Given the description of an element on the screen output the (x, y) to click on. 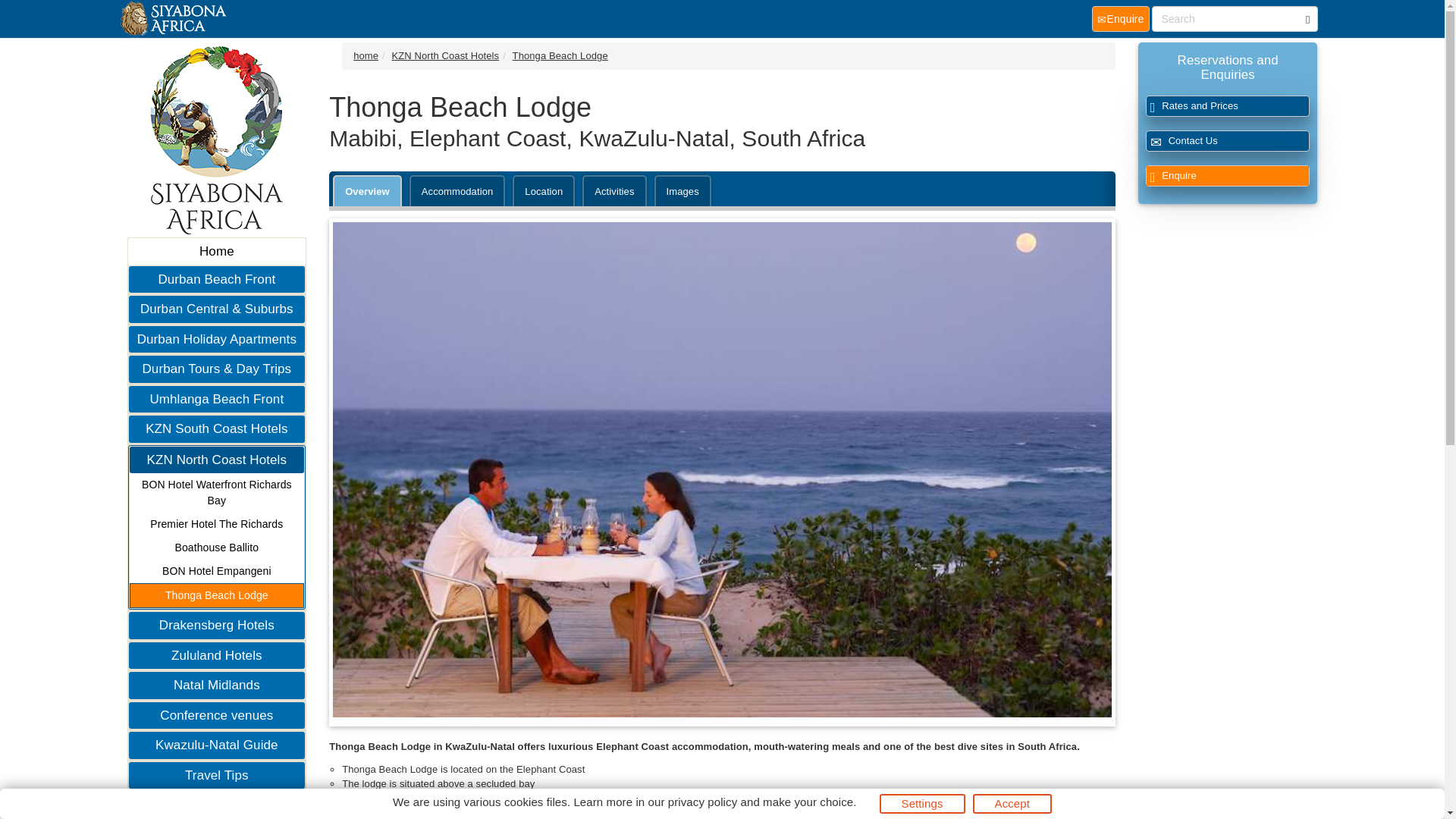
Home (216, 251)
Activities (614, 191)
Conference venues (217, 715)
Popular Selections (217, 805)
Travel Tips (217, 774)
Location Information (543, 191)
Ask a Question (1227, 140)
Images (682, 191)
Rates and Prices (1227, 106)
home (365, 55)
